Given the description of an element on the screen output the (x, y) to click on. 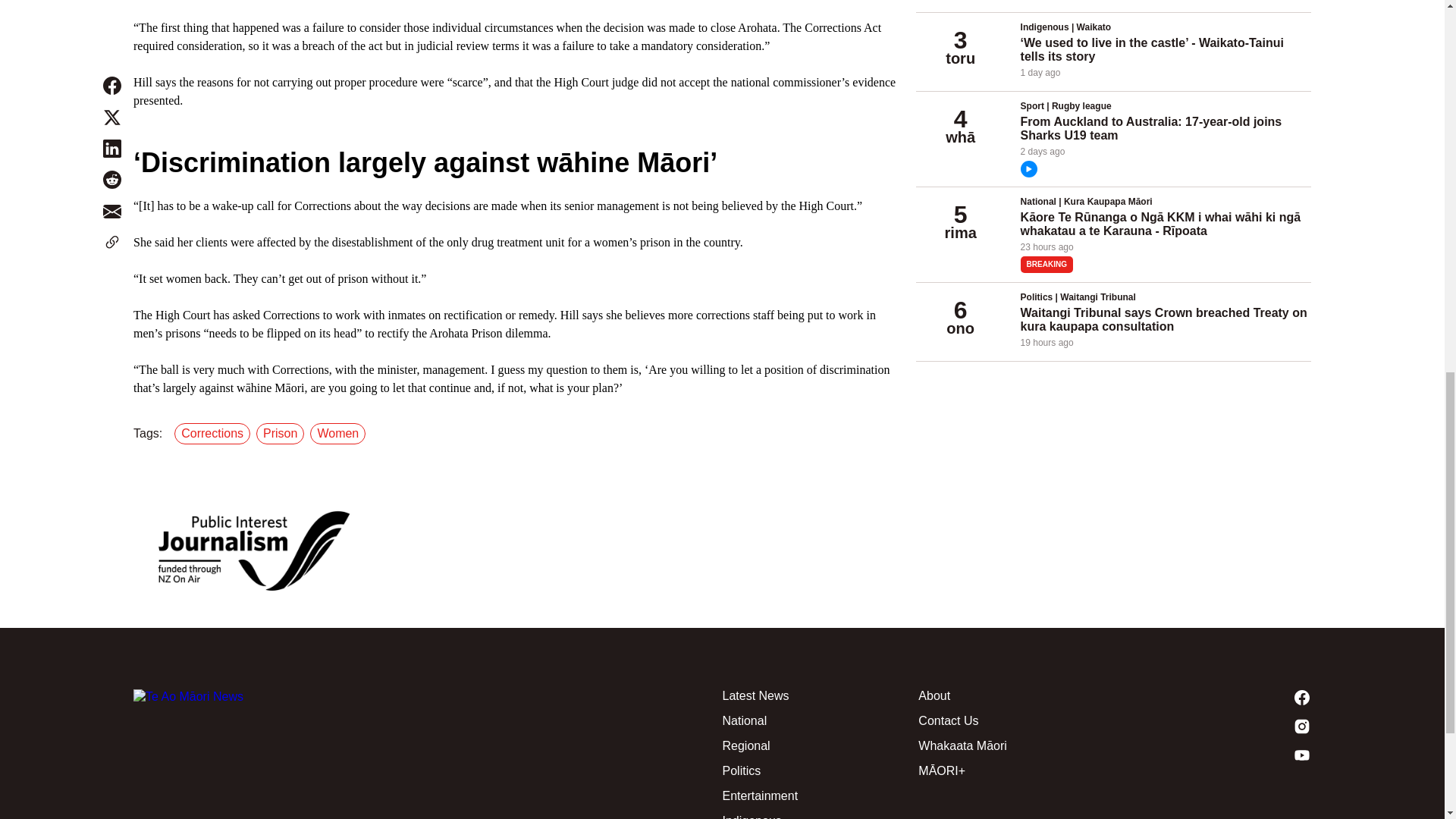
Instagram (1213, 726)
Prison (283, 433)
Youtube (1213, 755)
Women (340, 433)
Corrections (215, 433)
Facebook (1213, 697)
